Given the description of an element on the screen output the (x, y) to click on. 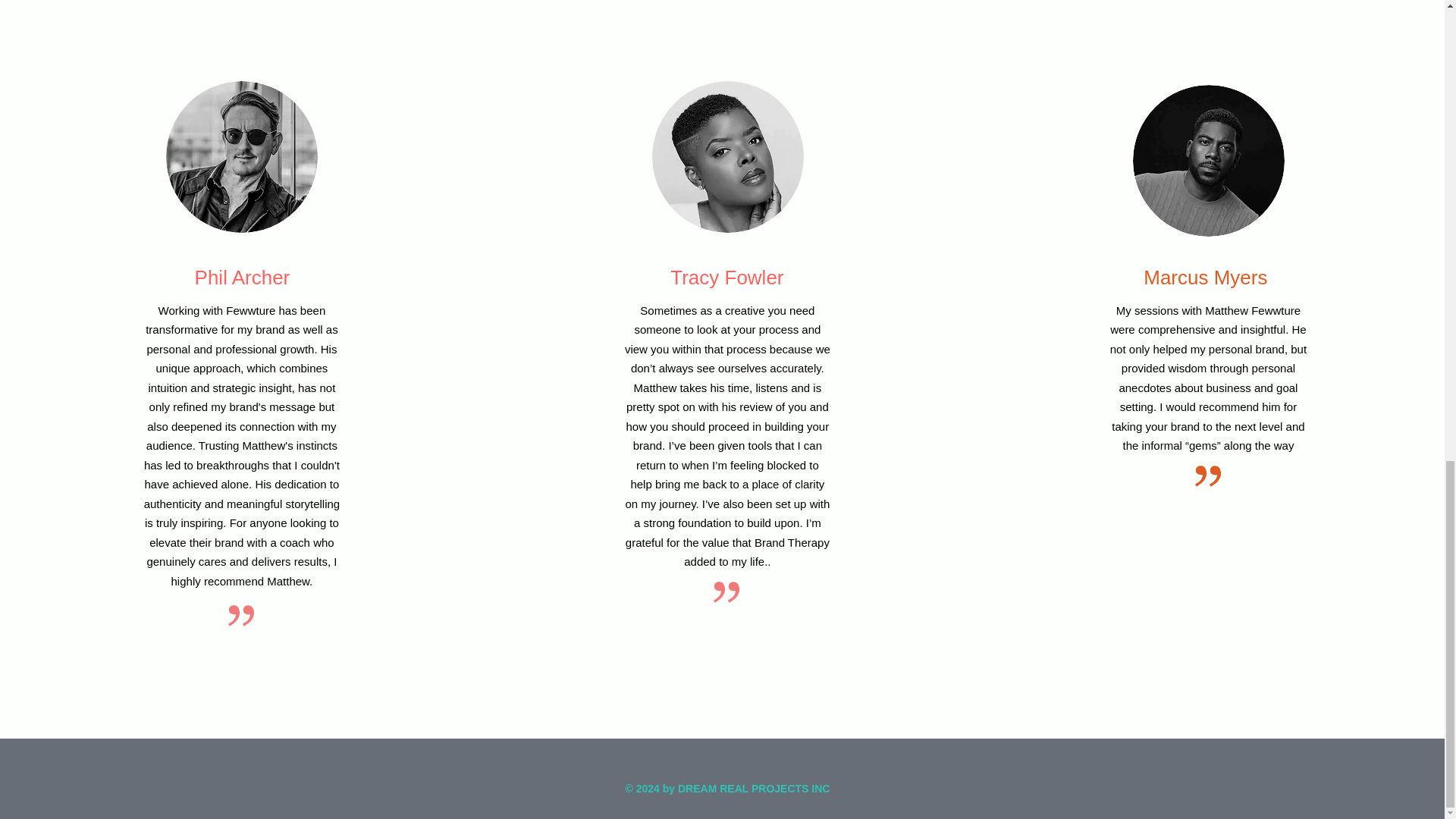
GettyImages-535587703.jpg (241, 156)
GettyImages-145680711.jpg (1208, 160)
GettyImages-124893619.jpg (727, 156)
